Given the description of an element on the screen output the (x, y) to click on. 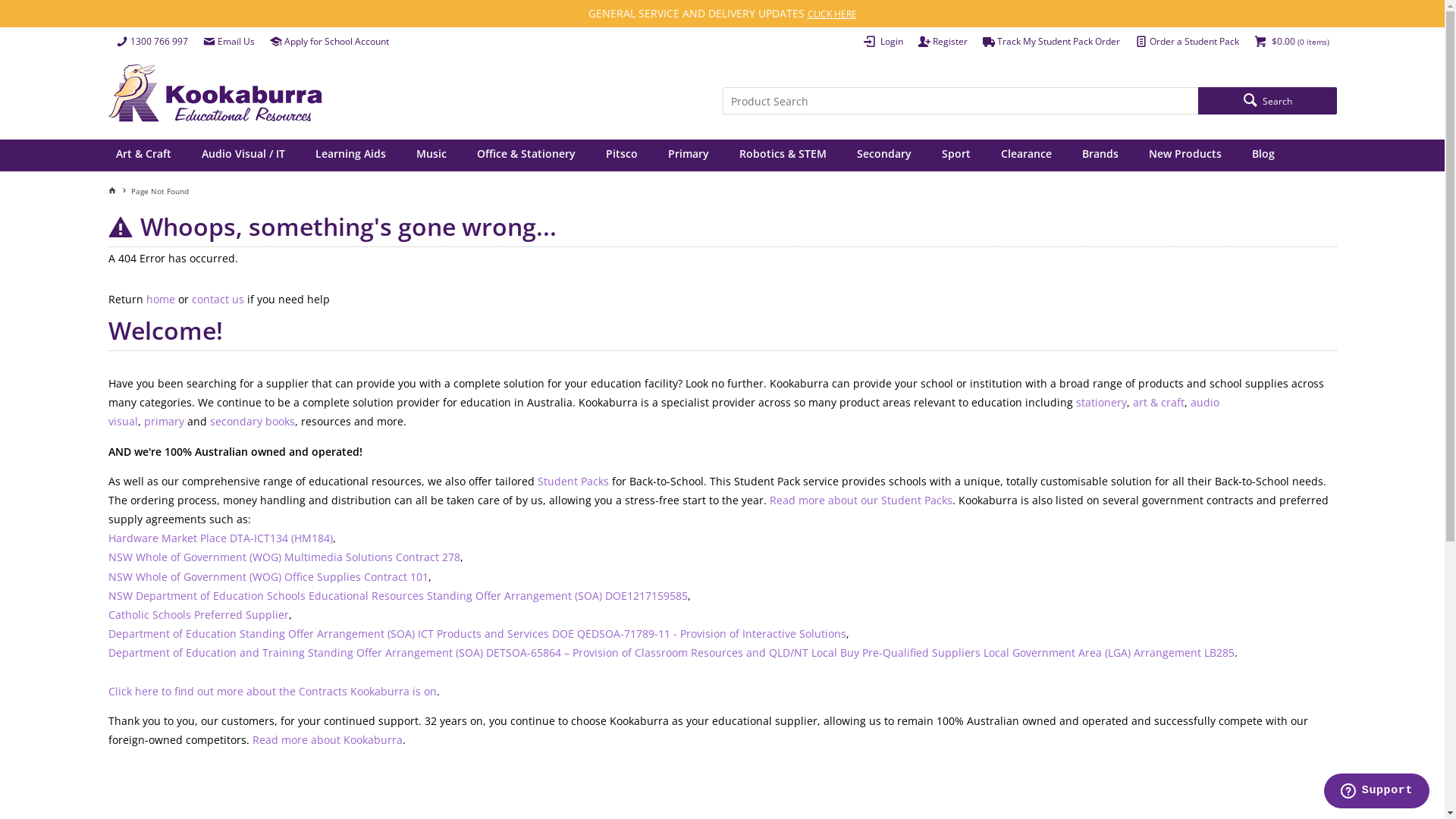
Catholic Schools Preferred Supplier Element type: text (197, 614)
Art & Craft Element type: text (144, 155)
stationery Element type: text (1100, 402)
Secondary Element type: text (883, 155)
Track My Student Pack Order Element type: text (1051, 41)
CLICK HERE Element type: text (831, 13)
NSW Whole of Government (WOG) Office Supplies Contract 101 Element type: text (267, 576)
Office & Stationery Element type: text (525, 155)
Primary Element type: text (688, 155)
Brands Element type: text (1099, 155)
secondary books Element type: text (251, 421)
Learning Aids Element type: text (349, 155)
Music Element type: text (431, 155)
Sport Element type: text (955, 155)
New Products Element type: text (1185, 155)
Email Us Element type: text (228, 41)
audio visual Element type: text (662, 411)
Order a Student Pack Element type: text (1185, 41)
Robotics & STEM Element type: text (782, 155)
Read more about our Student Packs Element type: text (859, 499)
Login Element type: text (882, 41)
Search Element type: text (1267, 100)
contact us Element type: text (217, 298)
Opens a widget where you can find more information Element type: hover (1376, 792)
Hardware Market Place DTA-ICT134 (HM184) Element type: text (219, 537)
Blog Element type: text (1263, 155)
Student Packs Element type: text (572, 480)
Read more about Kookaburra Element type: text (326, 739)
Audio Visual / IT Element type: text (242, 155)
Pitsco Element type: text (621, 155)
Clearance Element type: text (1025, 155)
home Element type: text (159, 298)
$0.00 (0 items) Element type: text (1291, 41)
art & craft Element type: text (1158, 402)
Apply for School Account Element type: text (329, 41)
Register Element type: text (942, 41)
primary Element type: text (164, 421)
